Given the description of an element on the screen output the (x, y) to click on. 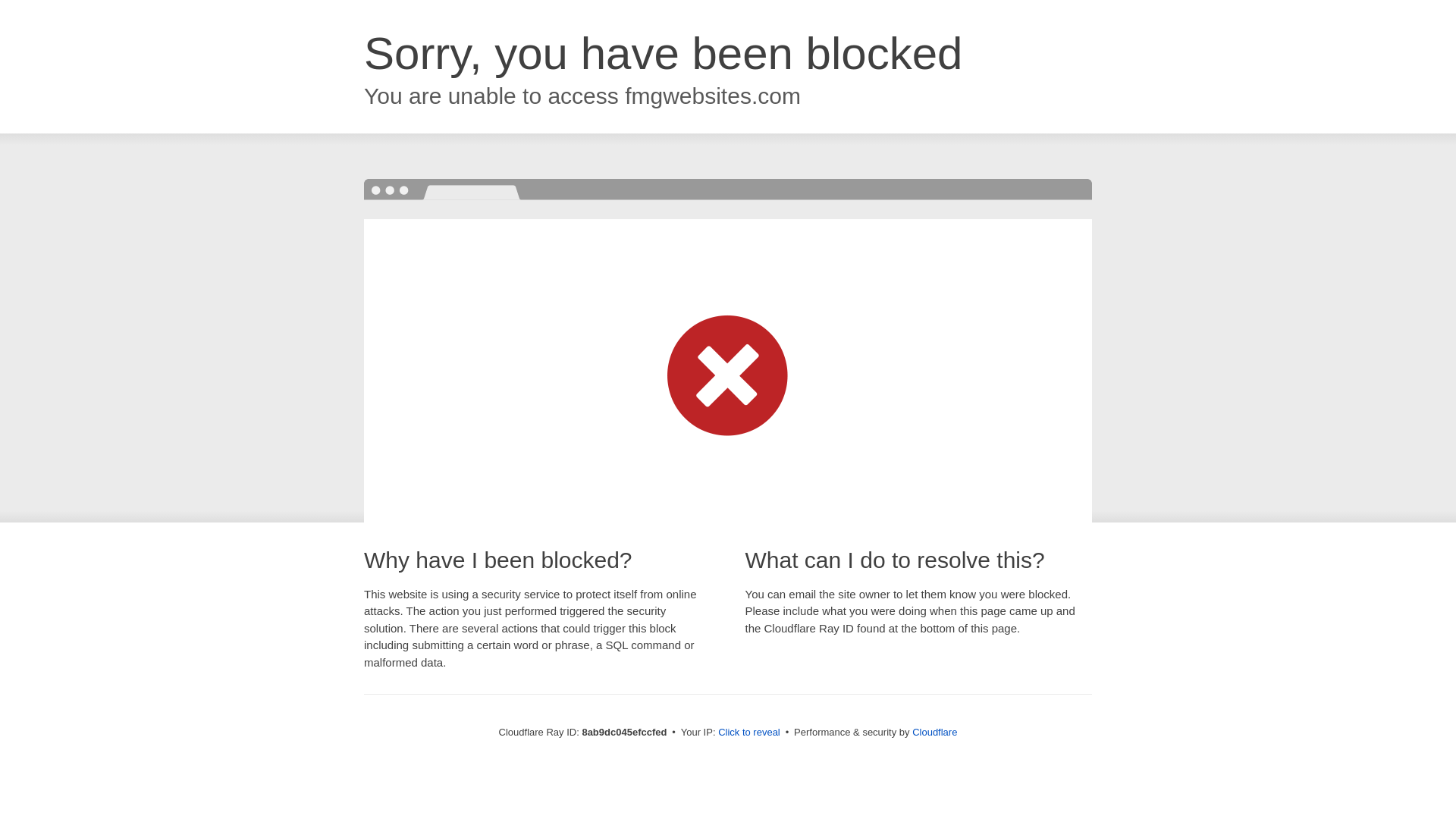
Click to reveal (748, 732)
Cloudflare (934, 731)
